Given the description of an element on the screen output the (x, y) to click on. 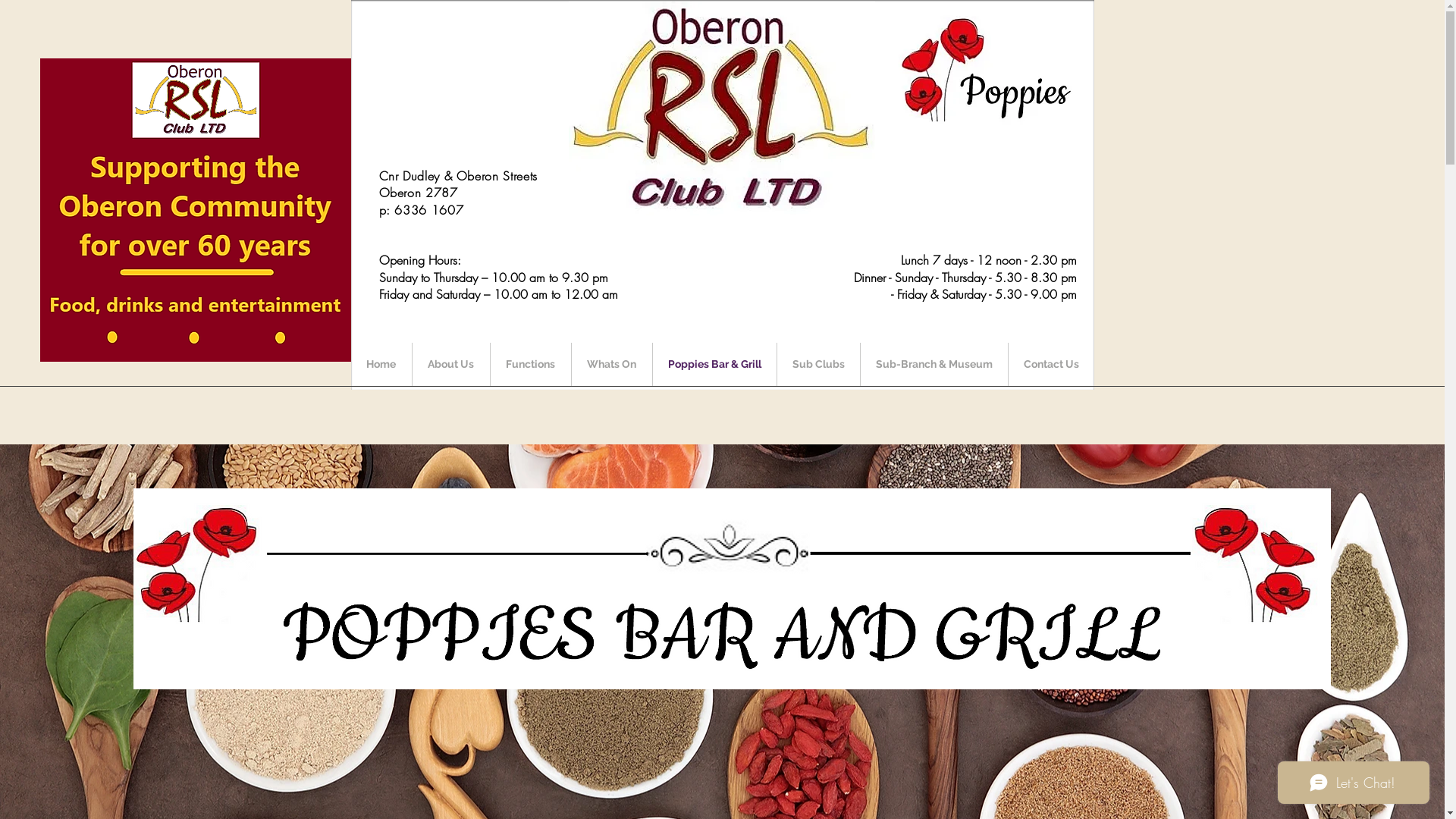
Contact Us Element type: text (1051, 363)
Functions Element type: text (529, 363)
Sub-Branch & Museum Element type: text (933, 363)
Poppies Bar & Grill Element type: text (713, 363)
About Us Element type: text (450, 363)
Whats On Element type: text (611, 363)
Home Element type: text (380, 363)
Poppies Logo Final .jpg Element type: hover (982, 70)
Sub Clubs Element type: text (817, 363)
